Given the description of an element on the screen output the (x, y) to click on. 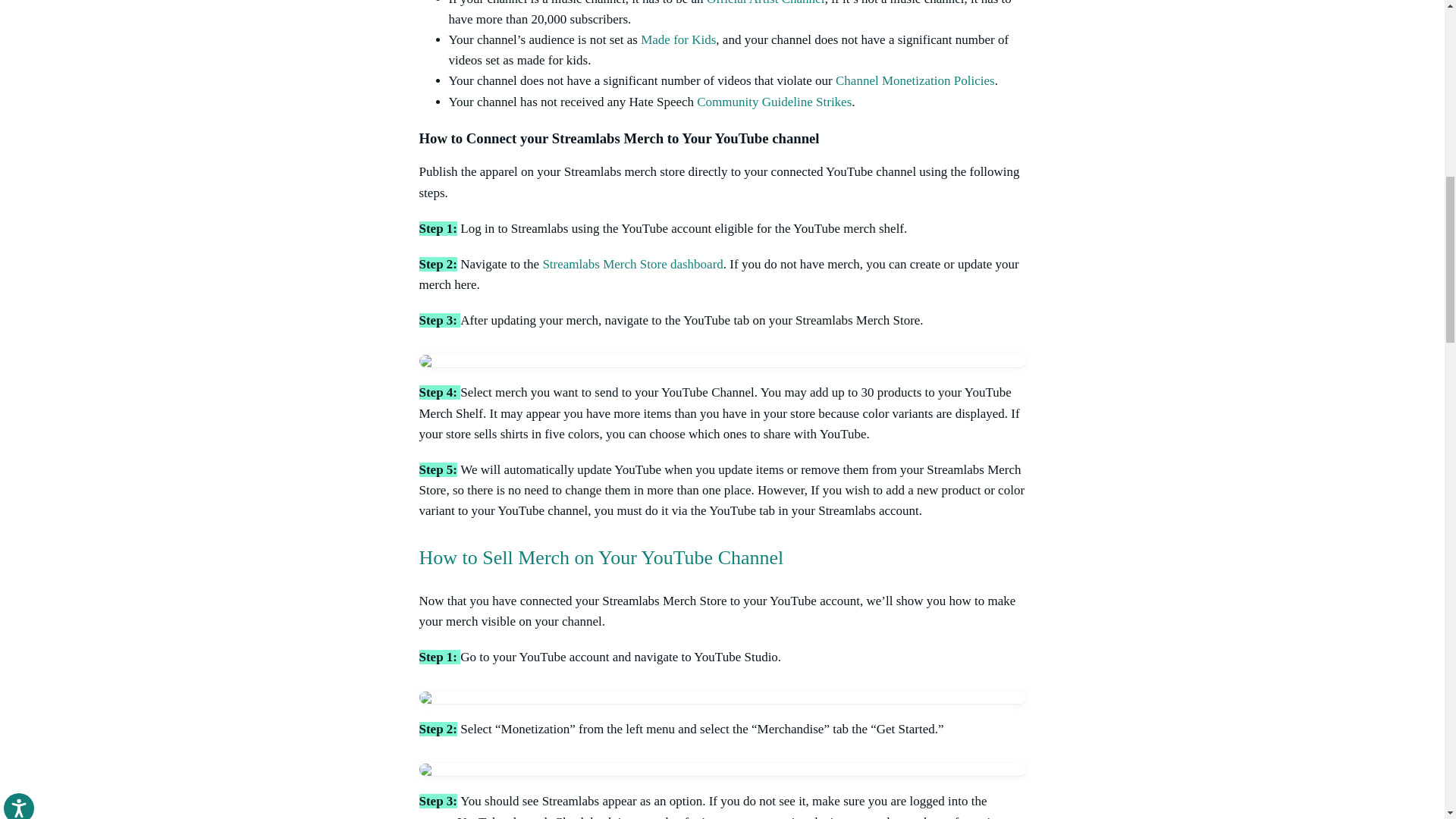
Accessibility (34, 17)
